Given the description of an element on the screen output the (x, y) to click on. 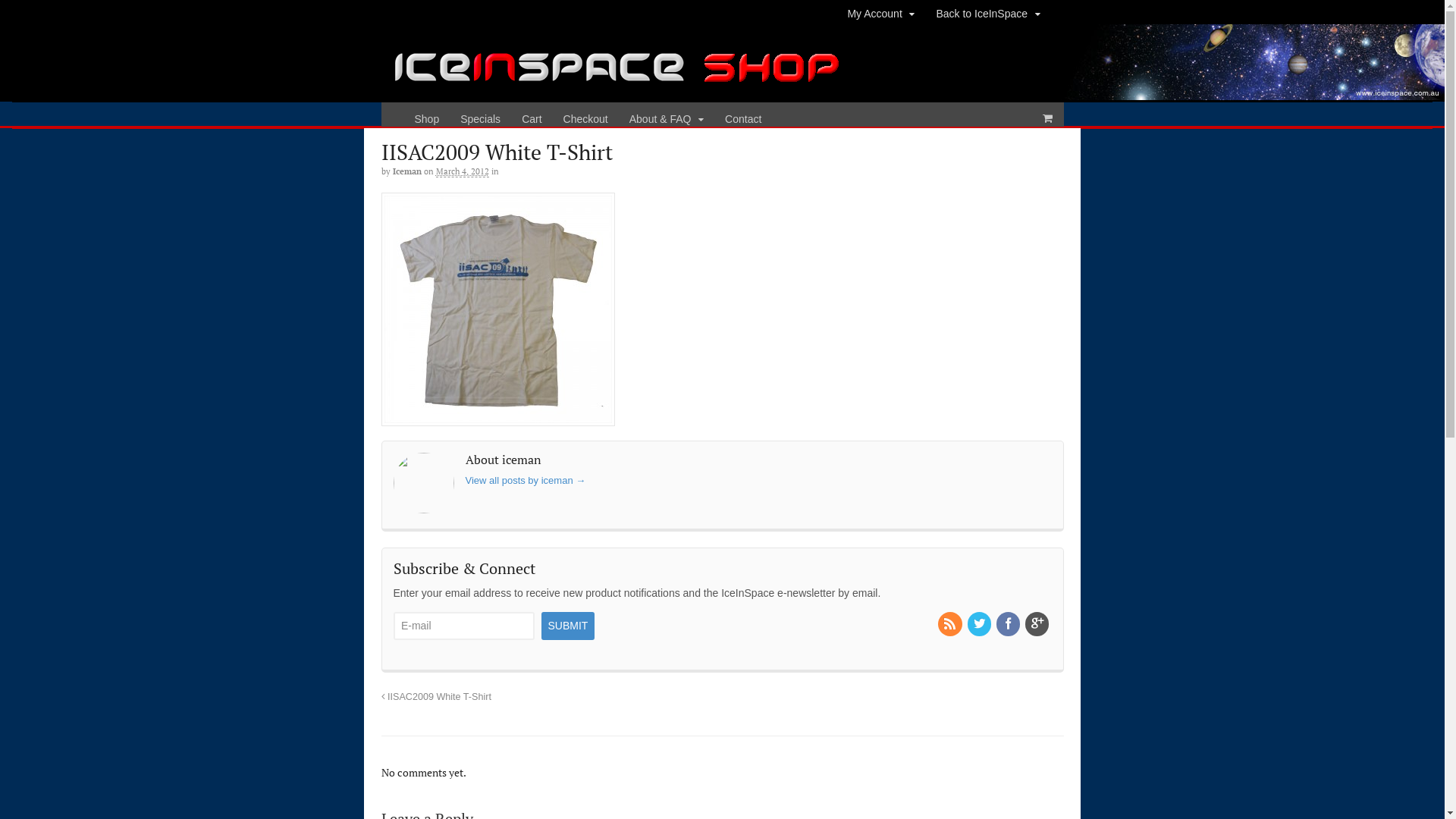
Iceman Element type: text (406, 171)
View your shopping cart Element type: hover (1047, 118)
Buy IceInSpace Branded Merchandise and Astronomy Products Element type: hover (615, 92)
Shop Element type: text (426, 119)
Checkout Element type: text (585, 119)
About & FAQ Element type: text (666, 119)
RSS Element type: hover (950, 624)
Submit Element type: text (568, 625)
Contact Element type: text (742, 119)
My Account Element type: text (880, 13)
Cart Element type: text (531, 119)
Specials Element type: text (480, 119)
IISAC2009 White T-Shirt Element type: text (435, 696)
Facebook Element type: hover (1009, 624)
Back to IceInSpace Element type: text (987, 13)
Google+ Element type: hover (1038, 624)
Twitter Element type: hover (980, 624)
